Given the description of an element on the screen output the (x, y) to click on. 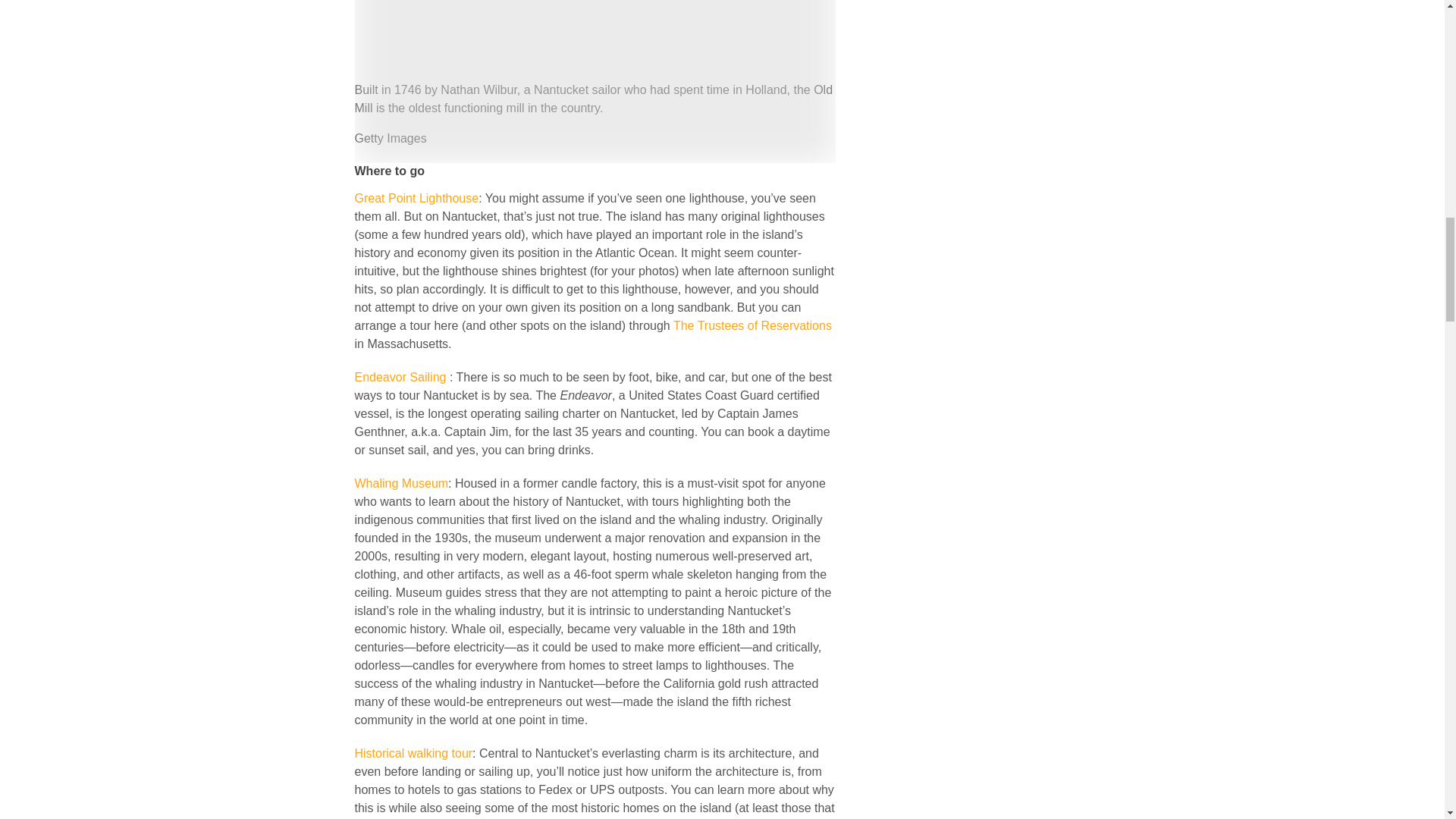
Great Point Lighthouse (417, 197)
Whaling Museum (401, 482)
Historical walking tour (414, 753)
The Trustees of Reservations (751, 325)
Endeavor Sailing (400, 377)
